Given the description of an element on the screen output the (x, y) to click on. 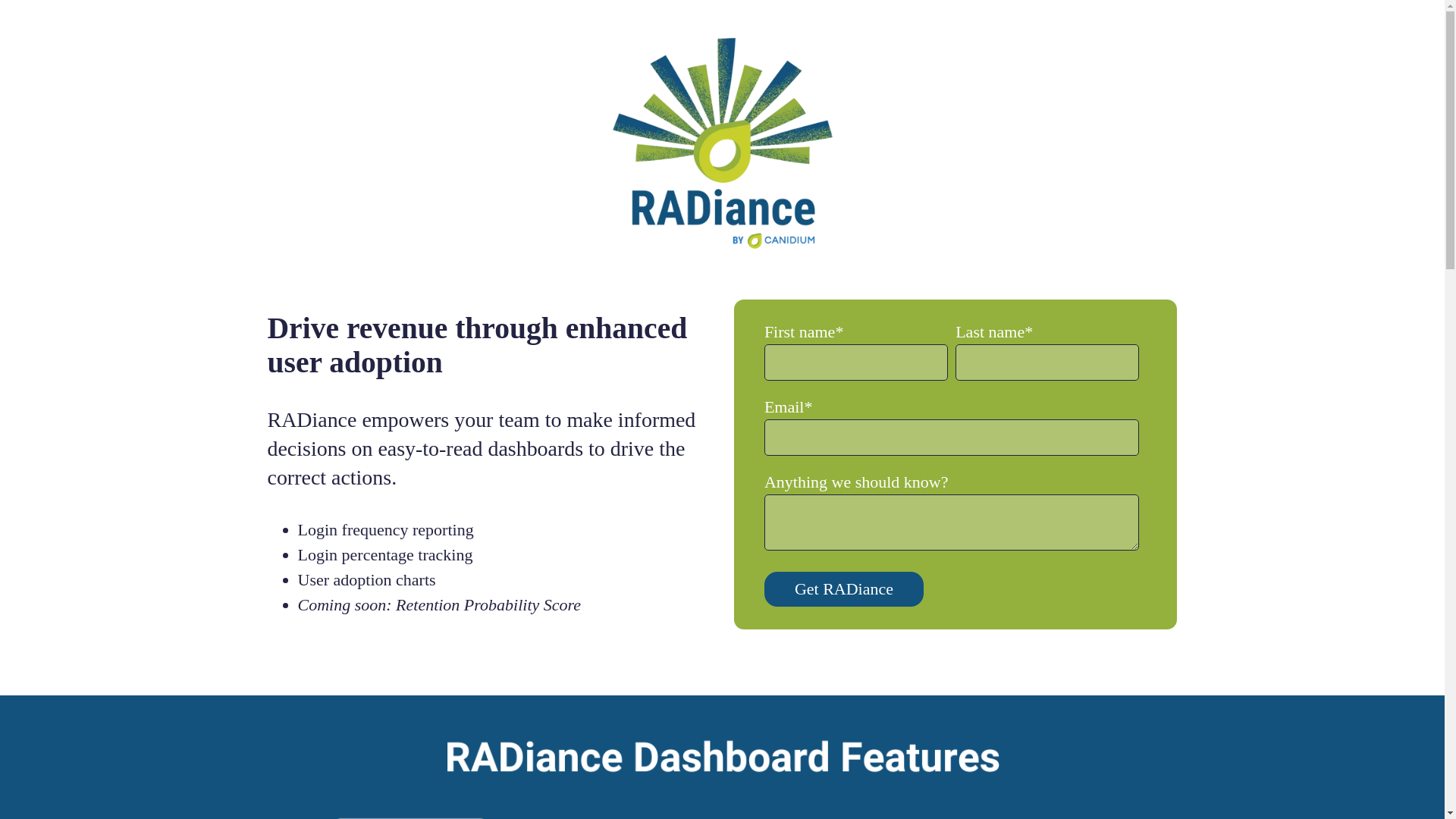
RADiance Logo by Canidium-1 (722, 143)
Get RADiance (843, 588)
Get RADiance (843, 588)
